Given the description of an element on the screen output the (x, y) to click on. 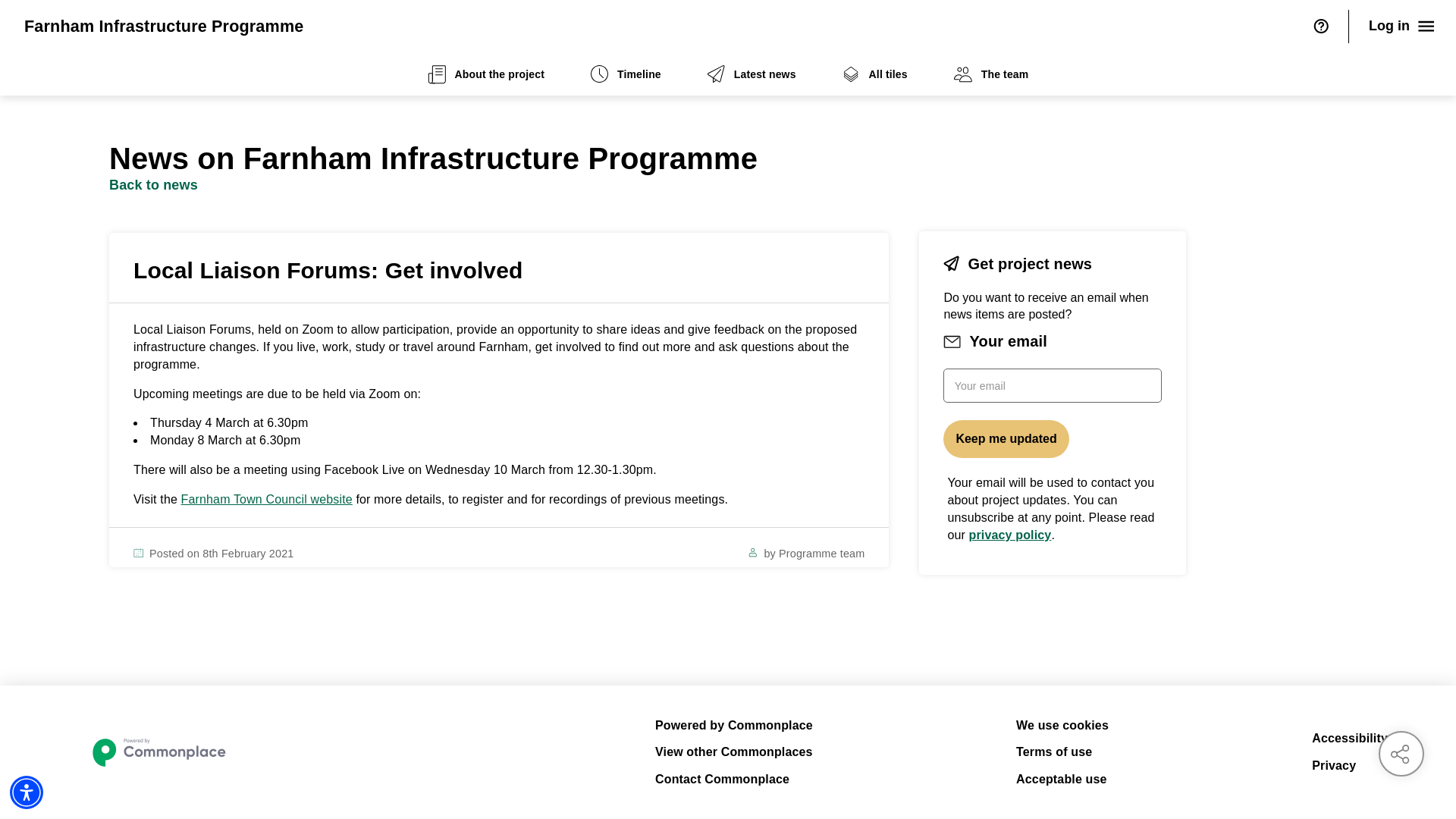
We use cookies (1062, 725)
Accessibility Menu (26, 792)
All tiles (874, 74)
Acceptable use (1062, 779)
About the project (485, 74)
Farnham Town Council website (266, 499)
Contact Commonplace (733, 779)
Terms of use (1062, 752)
Latest news (750, 74)
The team (991, 74)
Accessibility (1349, 738)
Log in (1402, 26)
privacy policy (1010, 534)
Keep me updated (1005, 438)
View other Commonplaces (733, 752)
